Given the description of an element on the screen output the (x, y) to click on. 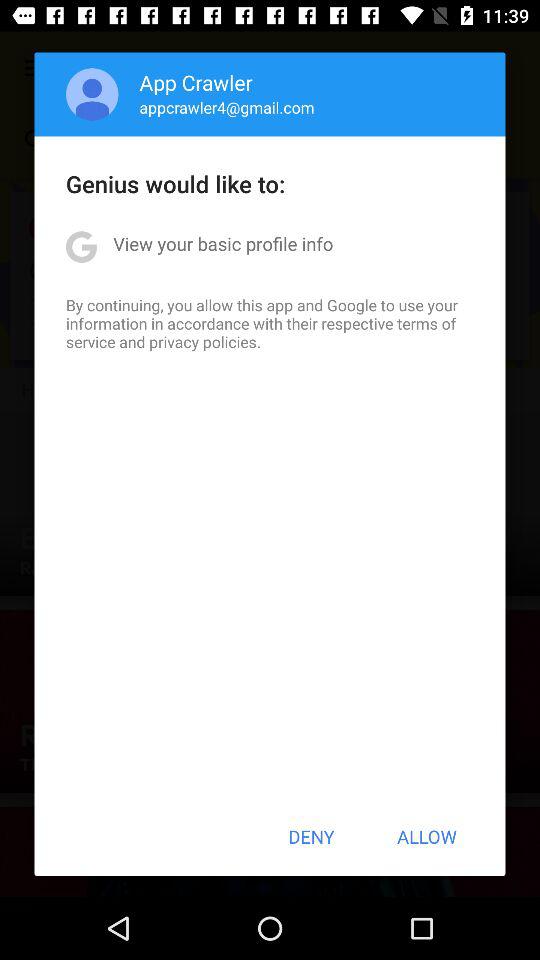
tap icon above genius would like icon (92, 94)
